Given the description of an element on the screen output the (x, y) to click on. 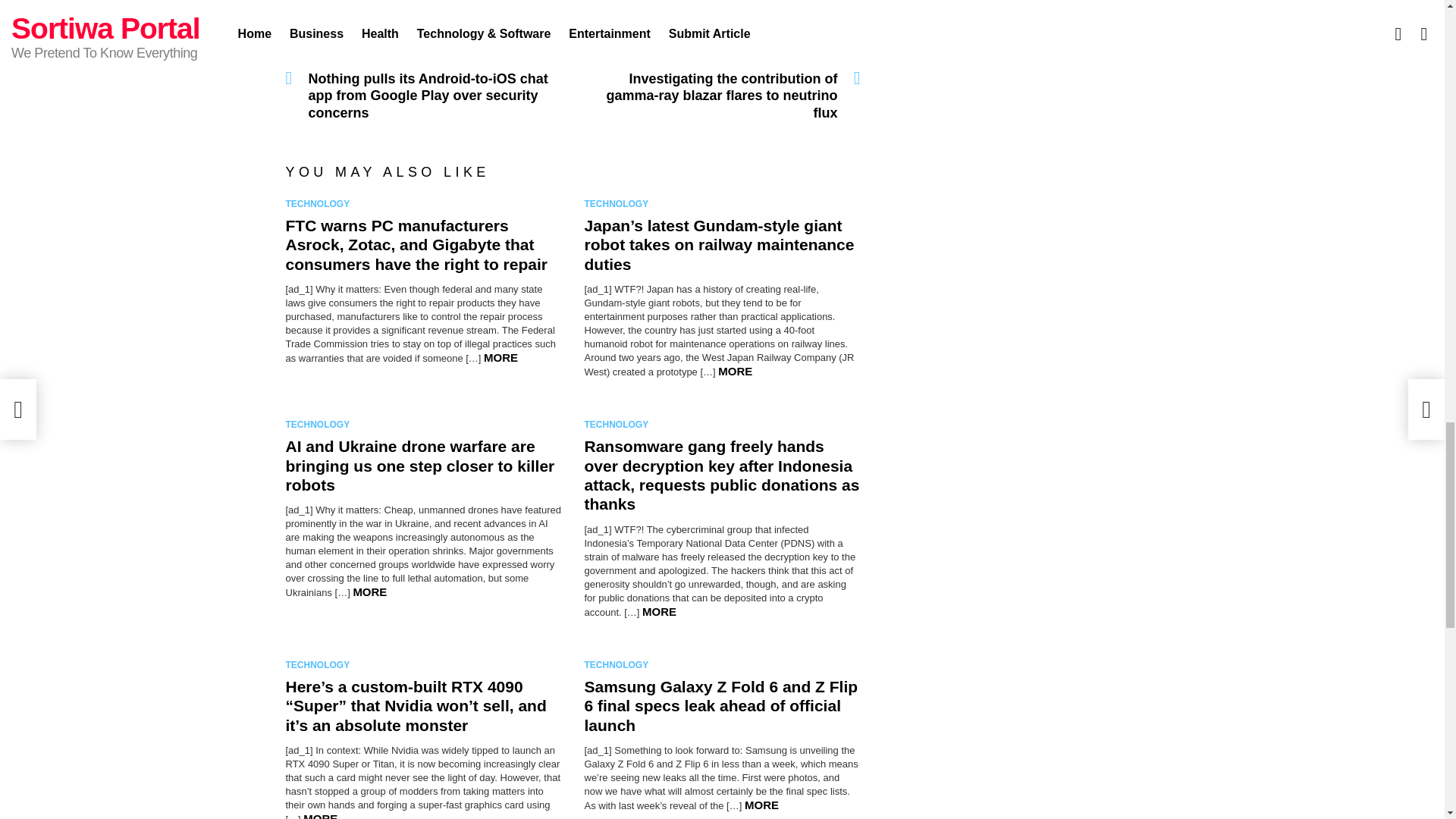
Source link (354, 6)
TECHNOLOGY (320, 424)
TECHNOLOGY (320, 203)
TECHNOLOGY (618, 203)
MORE (500, 357)
MORE (369, 591)
MORE (734, 370)
